Given the description of an element on the screen output the (x, y) to click on. 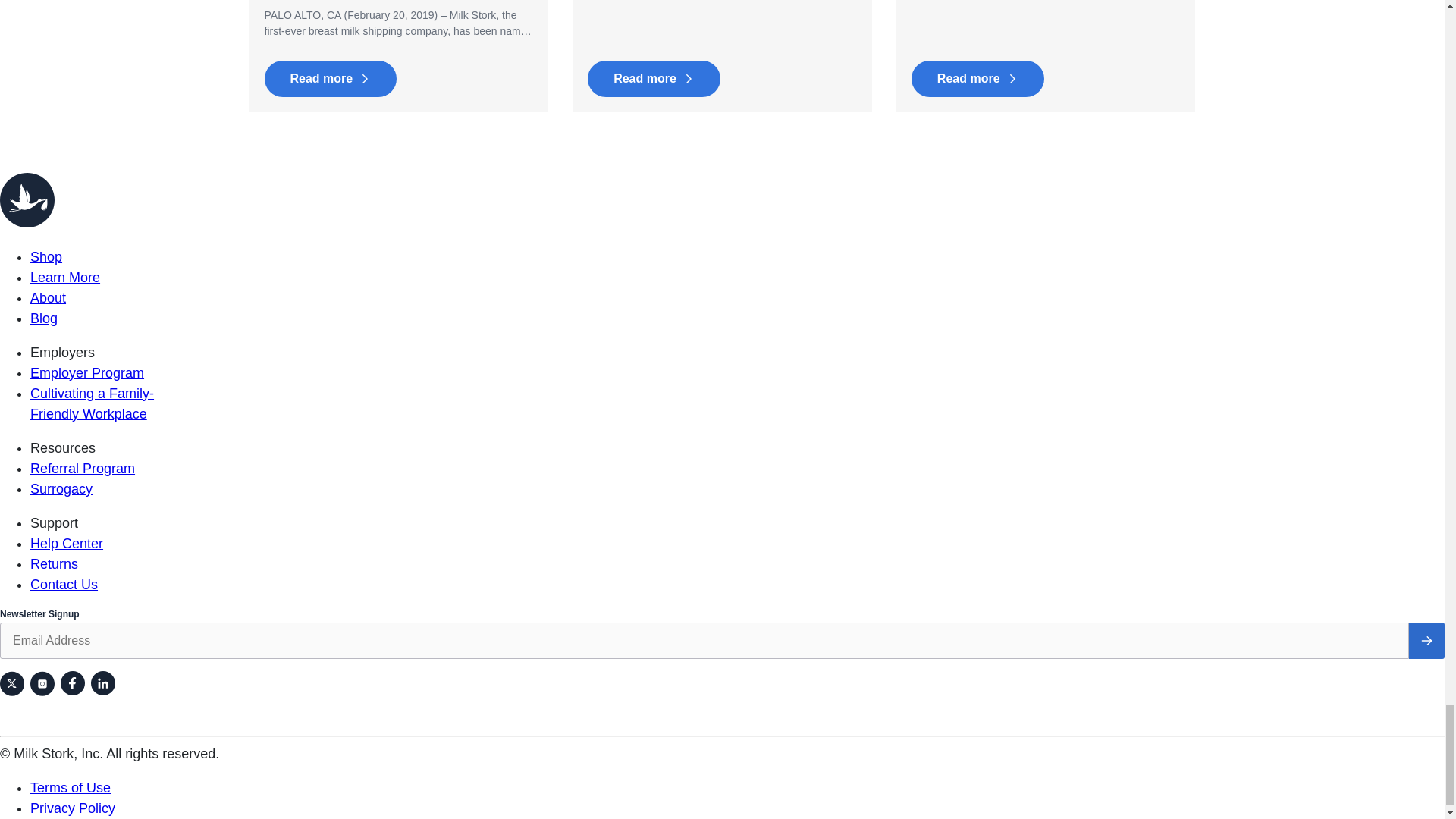
Read more (654, 78)
Read more (977, 78)
Read more (329, 78)
